Given the description of an element on the screen output the (x, y) to click on. 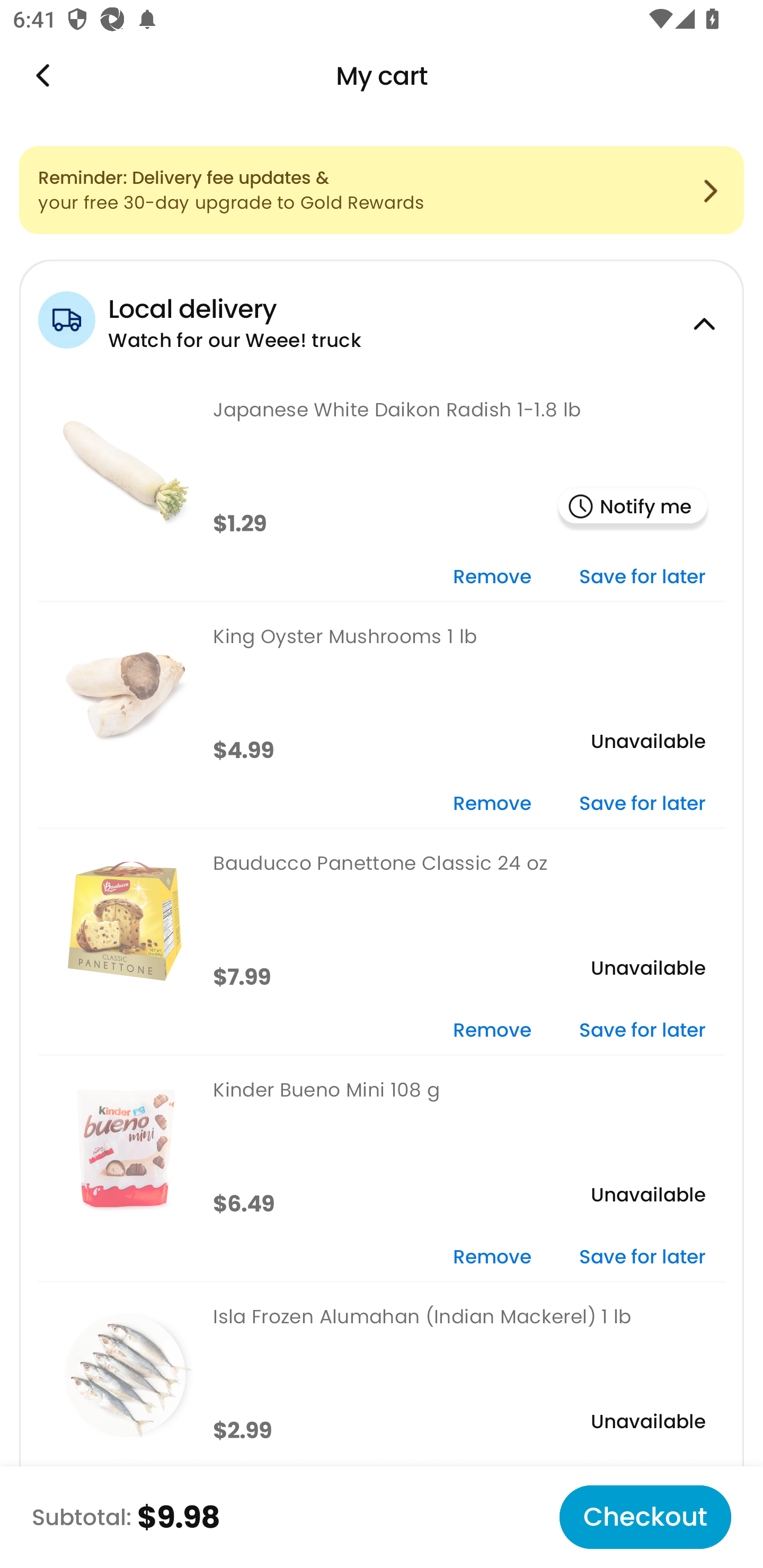
Local delivery Watch for our Weee! truck (381, 317)
Notify me (632, 507)
Remove (491, 577)
Save for later (642, 577)
Remove (491, 804)
Save for later (642, 804)
Remove (491, 1030)
Save for later (642, 1030)
Remove (491, 1258)
Save for later (642, 1258)
Checkout (644, 1516)
